Given the description of an element on the screen output the (x, y) to click on. 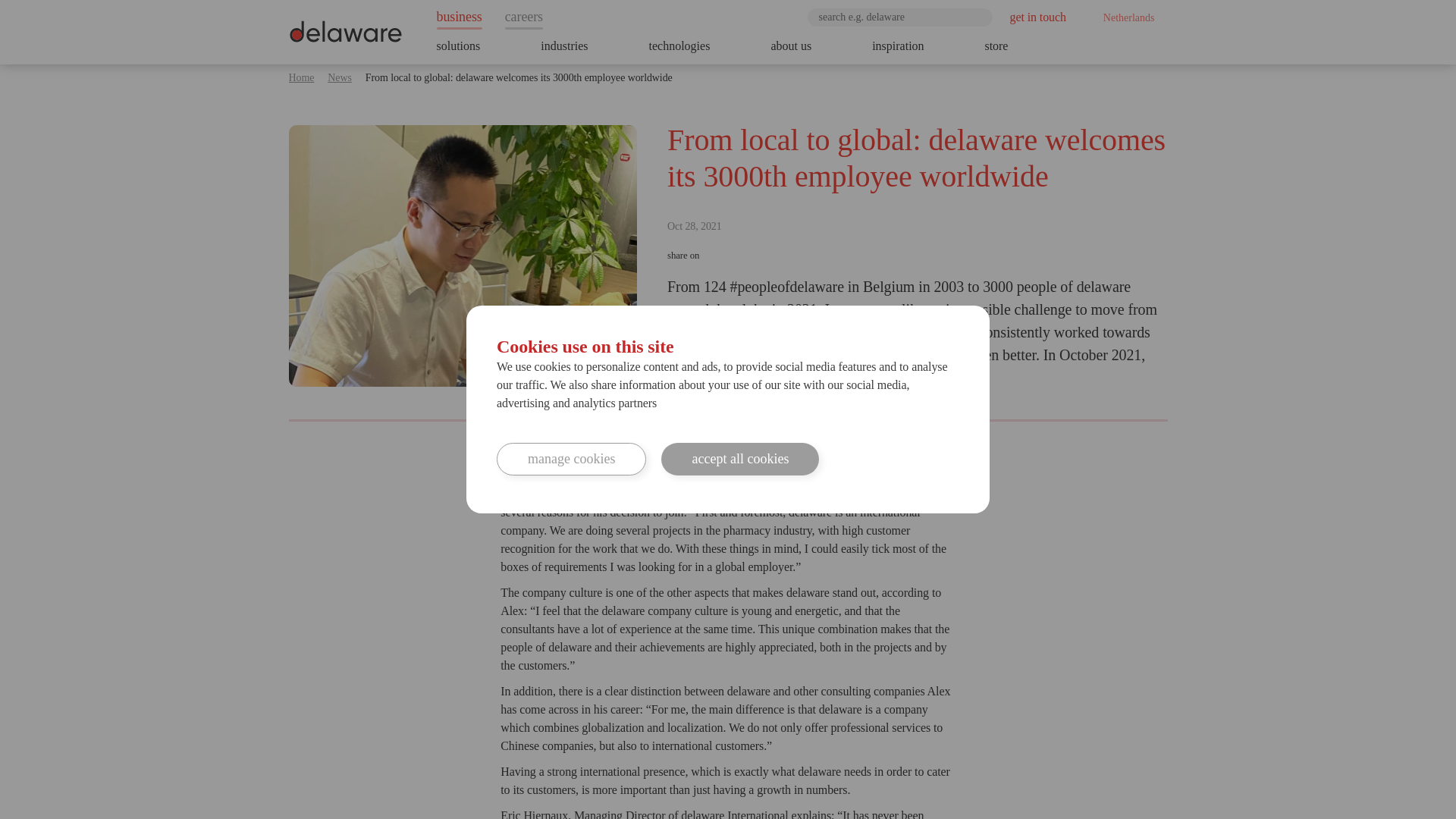
get in touch (1037, 16)
Netherlands (1124, 17)
